Given the description of an element on the screen output the (x, y) to click on. 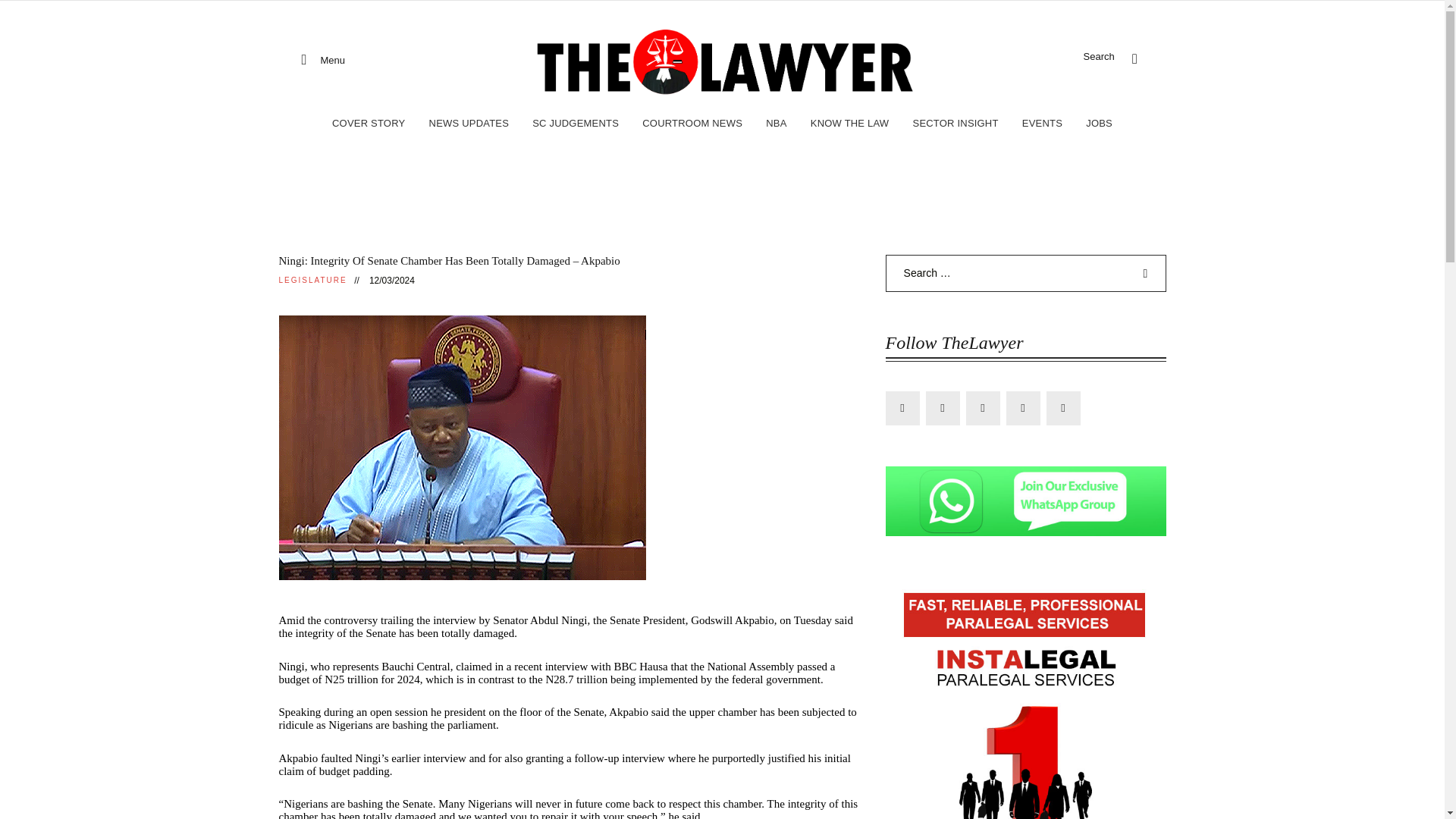
Search (1147, 272)
NBA (776, 123)
COVER STORY (368, 123)
EVENTS (1042, 123)
KNOW THE LAW (849, 123)
Search (1134, 58)
SECTOR INSIGHT (955, 123)
Search (1147, 272)
NEWS UPDATES (468, 123)
Menu (323, 60)
COURTROOM NEWS (692, 123)
JOBS (1099, 123)
SC JUDGEMENTS (575, 123)
